Given the description of an element on the screen output the (x, y) to click on. 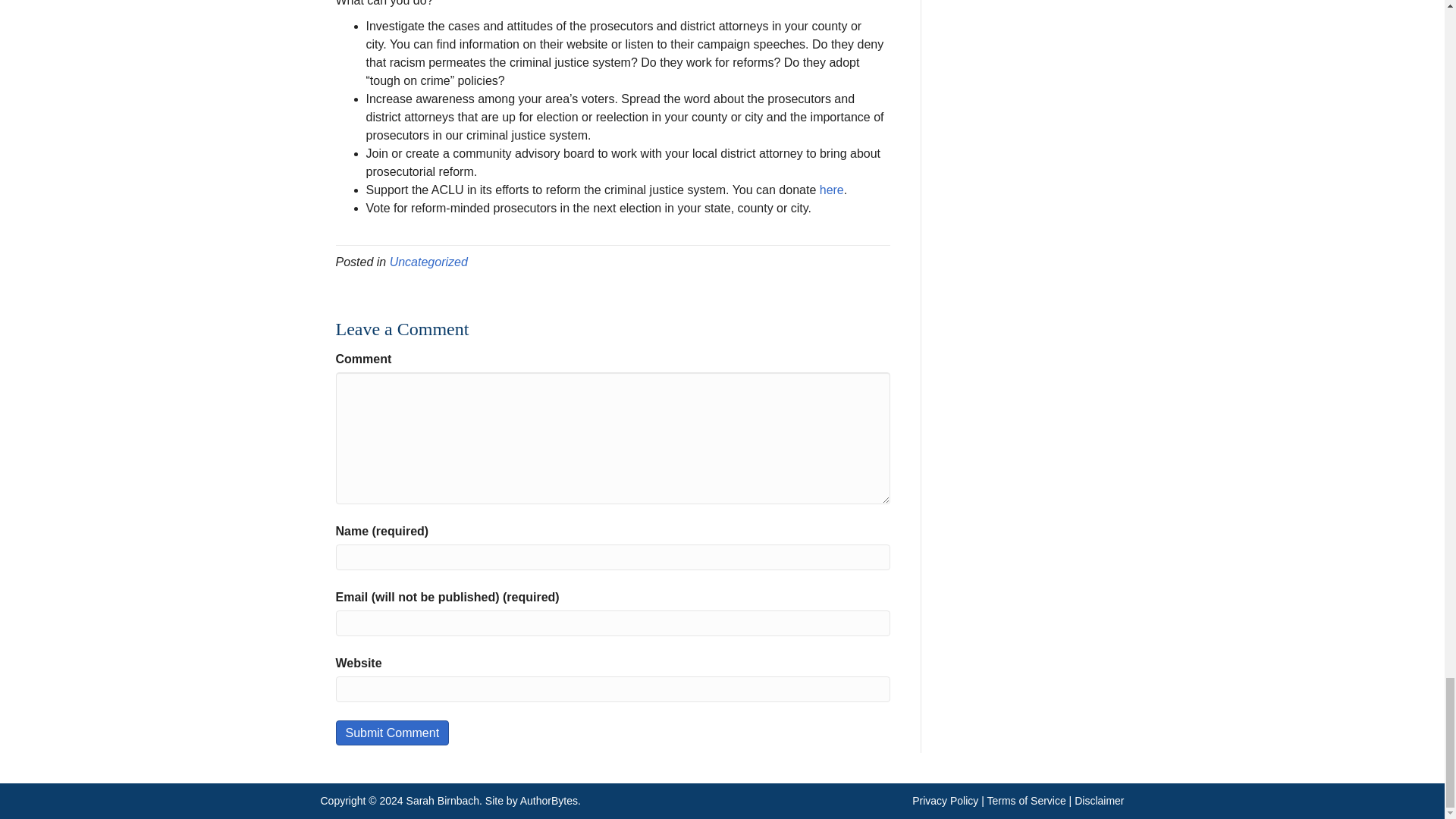
here (831, 189)
Uncategorized (428, 261)
Submit Comment (391, 732)
Submit Comment (391, 732)
